Given the description of an element on the screen output the (x, y) to click on. 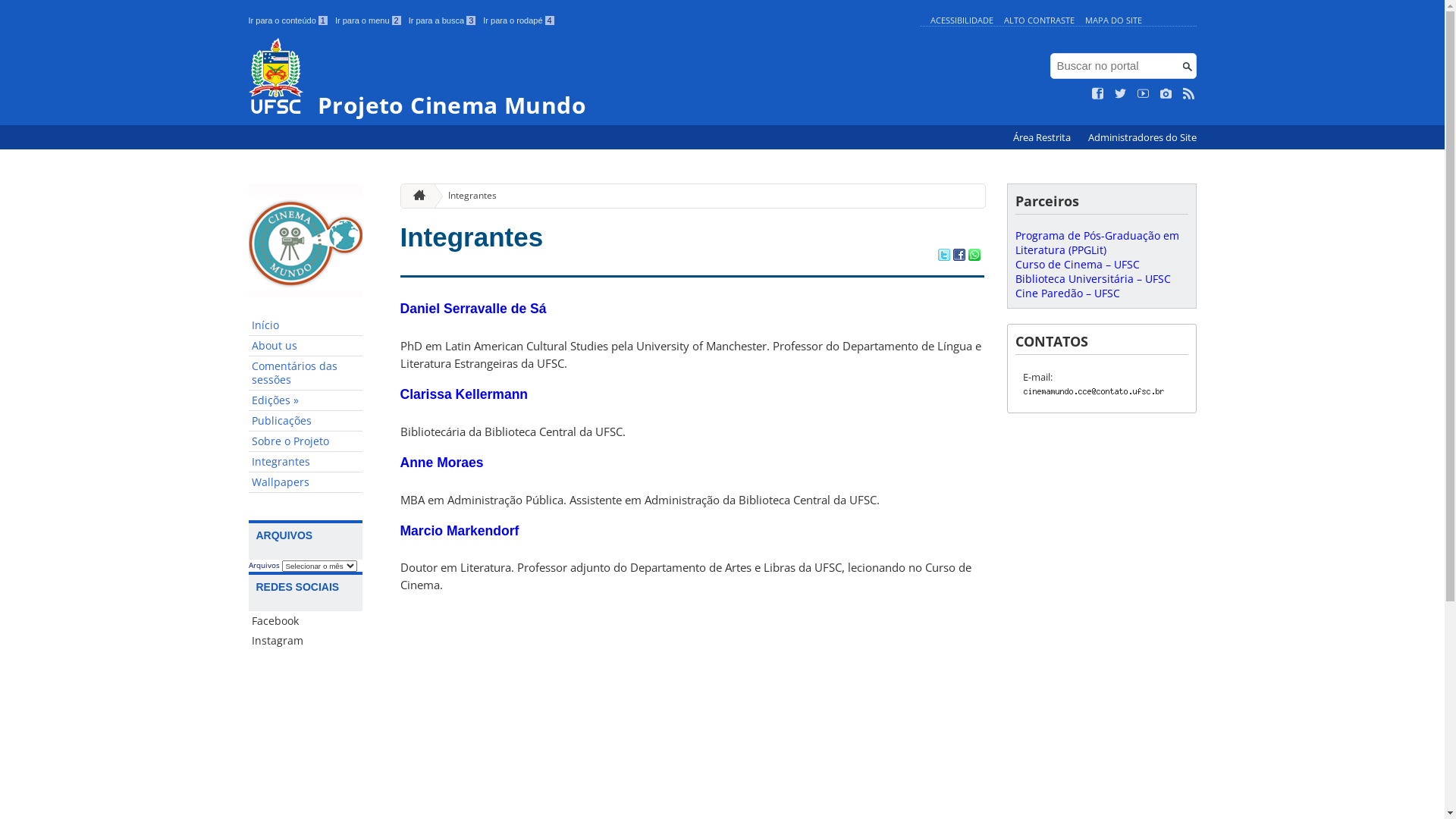
Compartilhar no Facebook Element type: hover (958, 255)
Sobre o Projeto Element type: text (305, 441)
Veja no Instagram Element type: hover (1166, 93)
ALTO CONTRASTE Element type: text (1039, 19)
About us Element type: text (305, 345)
MAPA DO SITE Element type: text (1112, 19)
Integrantes Element type: text (465, 195)
Administradores do Site Element type: text (1141, 137)
Compartilhar no Twitter Element type: hover (943, 255)
Ir para o menu 2 Element type: text (368, 20)
Integrantes Element type: text (305, 461)
ACESSIBILIDADE Element type: text (960, 19)
Projeto Cinema Mundo Element type: text (580, 77)
Ir para a busca 3 Element type: text (442, 20)
Instagram Element type: text (305, 640)
Compartilhar no WhatsApp Element type: hover (973, 255)
Marcio Markendorf Element type: text (459, 530)
Wallpapers Element type: text (305, 482)
Clarissa Kellermann Element type: text (464, 393)
Siga no Twitter Element type: hover (1120, 93)
Curta no Facebook Element type: hover (1098, 93)
Facebook Element type: text (305, 620)
Anne Moraes Element type: text (441, 462)
Integrantes Element type: text (471, 236)
